Given the description of an element on the screen output the (x, y) to click on. 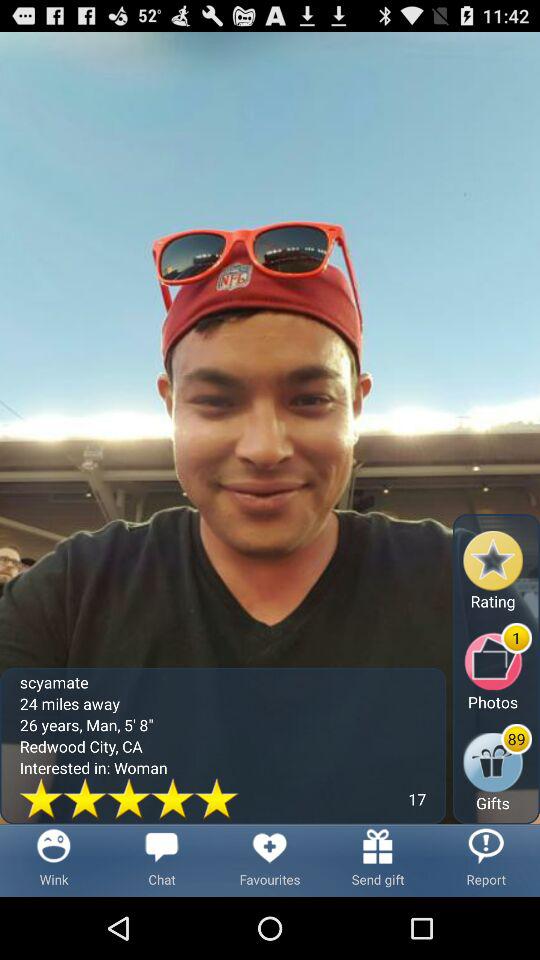
launch the wink (54, 860)
